Given the description of an element on the screen output the (x, y) to click on. 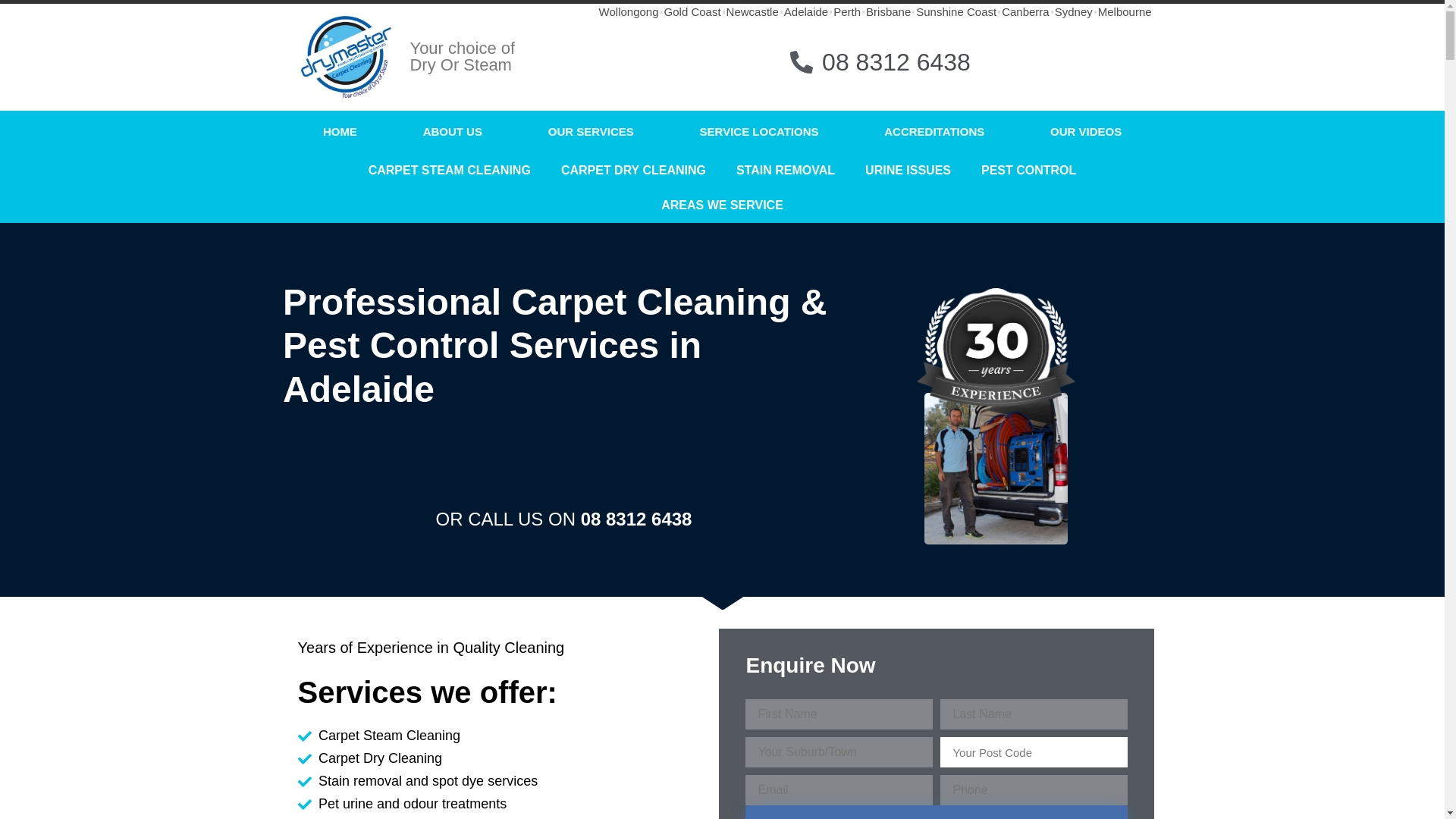
ABOUT US (452, 131)
Wollongong (628, 12)
Gold Coast (691, 12)
HOME (339, 131)
Perth (846, 12)
08 8312 6438 (772, 62)
OUR SERVICES (590, 131)
Melbourne (1124, 12)
Sydney (1073, 12)
SERVICE LOCATIONS (758, 131)
Newcastle (752, 12)
Sunshine Coast (955, 12)
Adelaide (806, 12)
Canberra (1025, 12)
Brisbane (888, 12)
